Given the description of an element on the screen output the (x, y) to click on. 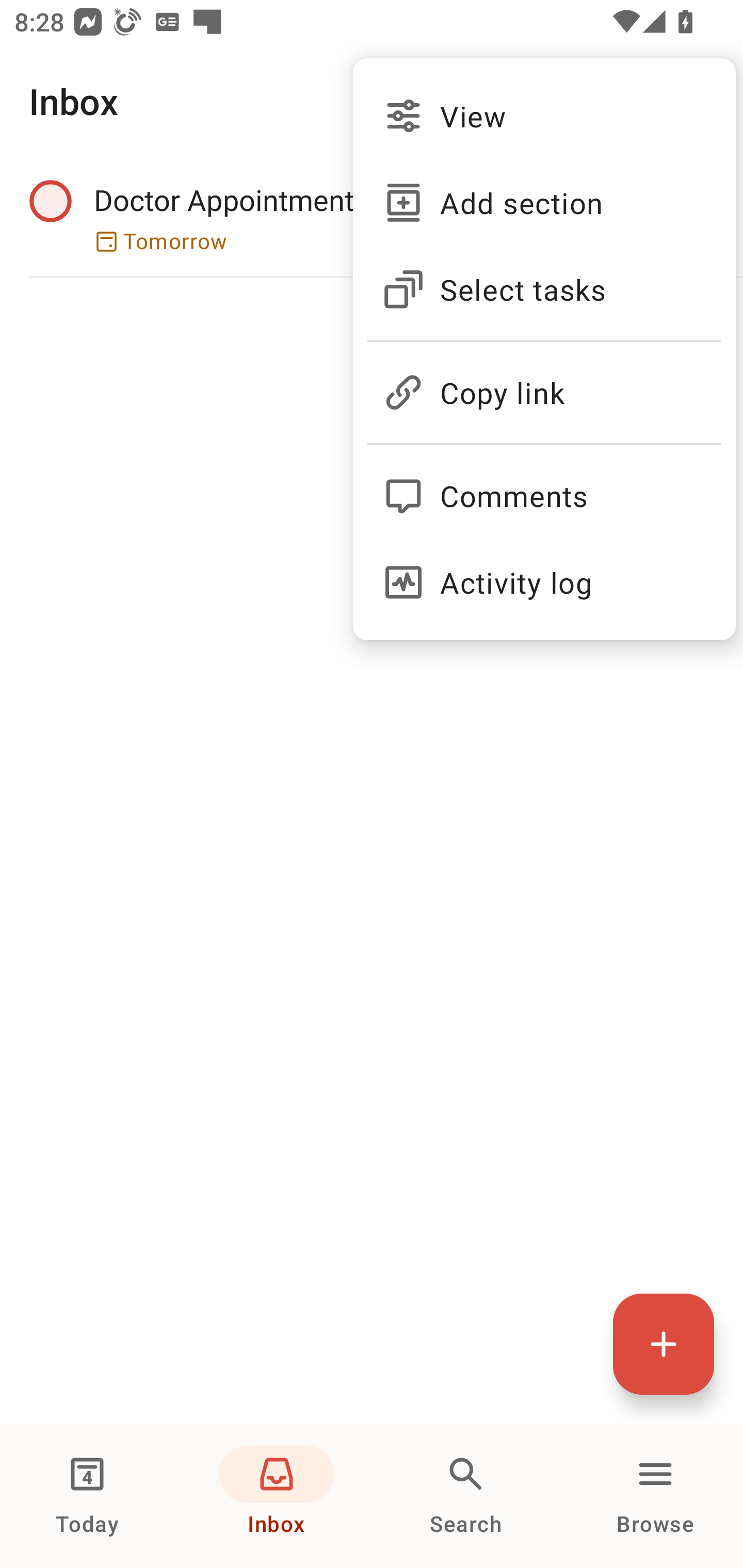
View (544, 115)
Add section (544, 202)
Select tasks (544, 289)
Copy link (544, 383)
Comments (544, 487)
Activity log (544, 582)
